Given the description of an element on the screen output the (x, y) to click on. 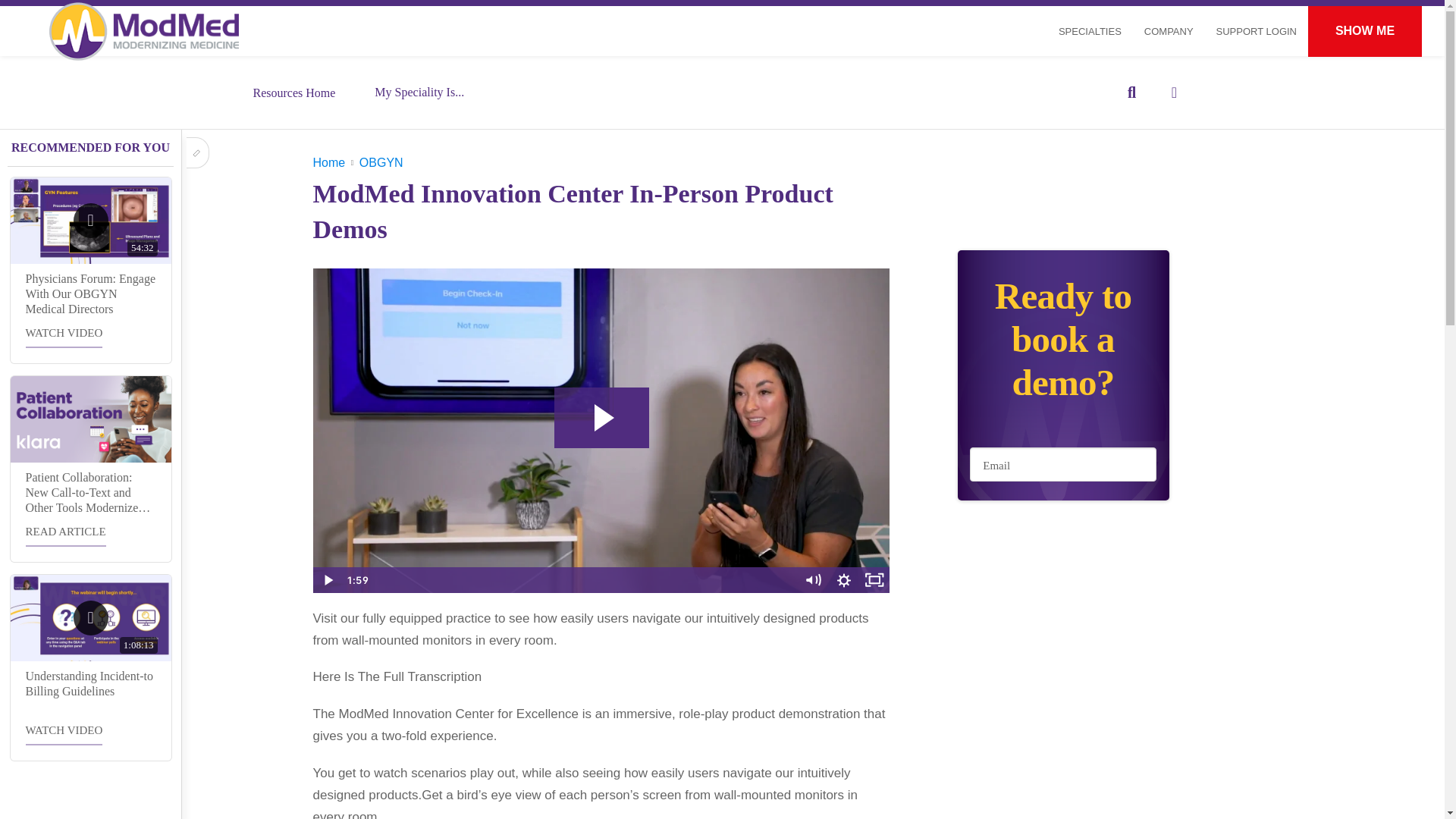
Open Search Box (1131, 92)
SHOW ME (1364, 30)
ModMed Innovation Center In-Person Product Demos (1234, 40)
